Given the description of an element on the screen output the (x, y) to click on. 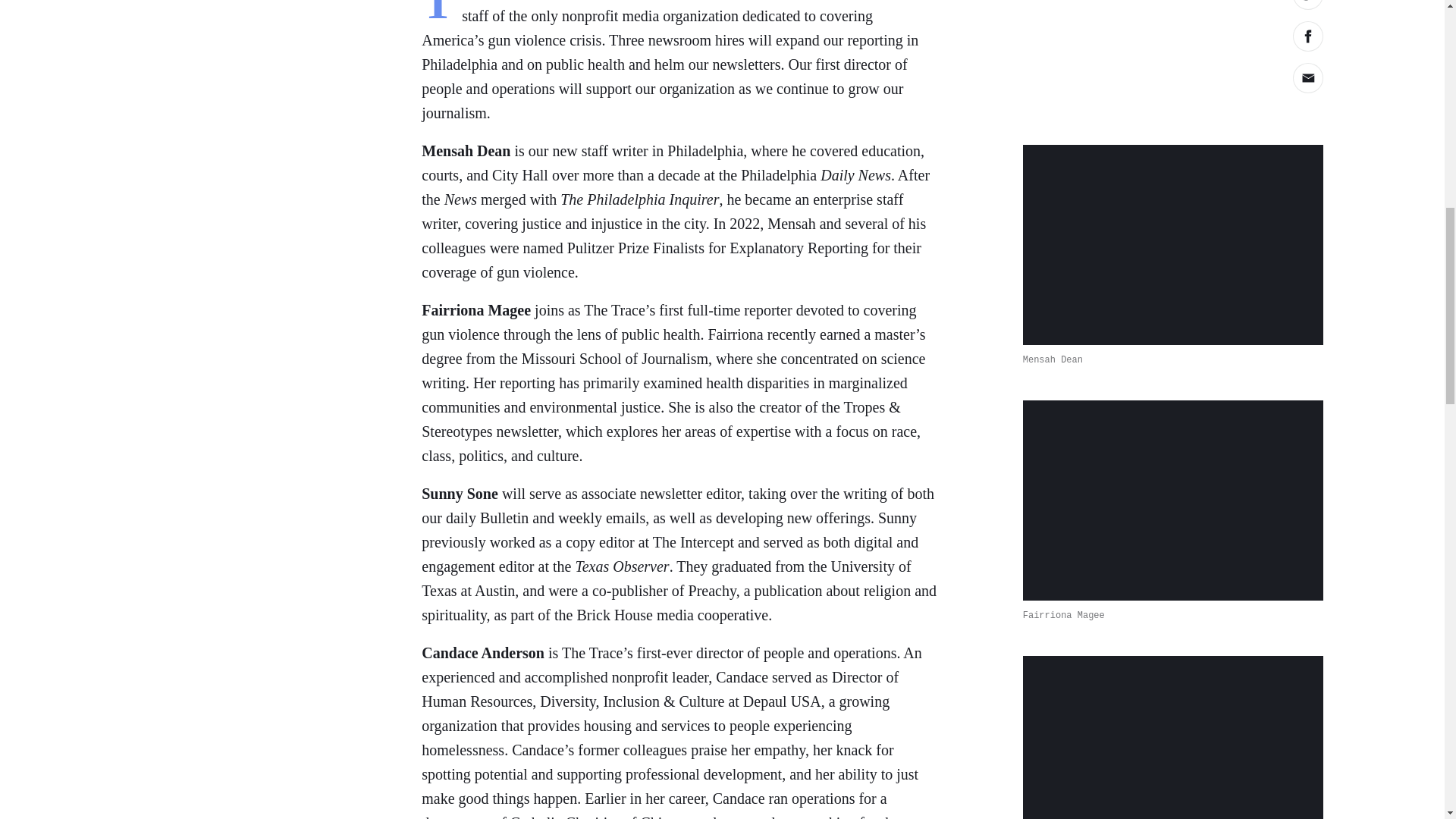
Share on Twitter (1307, 4)
Share on Facebook (1307, 36)
Email a link to this page (1307, 78)
